Given the description of an element on the screen output the (x, y) to click on. 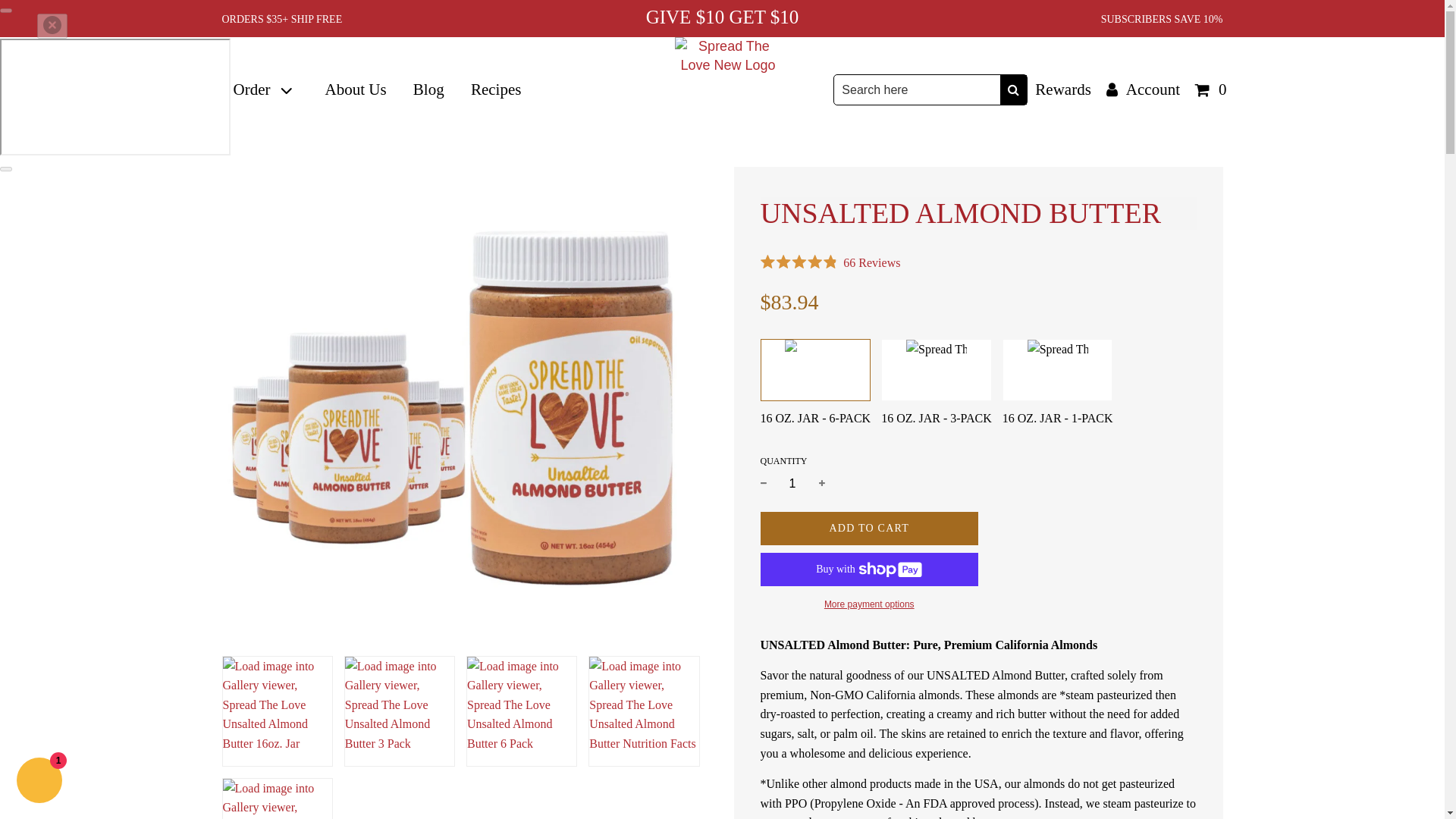
Skip to product information (228, 173)
1 (792, 483)
Rewards (1062, 89)
Skip to content (6, 6)
Blog (428, 90)
Recipes (496, 90)
About Us (355, 90)
Shopify online store chat (38, 781)
Log in (1143, 89)
Cart - 0 (1211, 89)
Order (264, 90)
Account (1143, 89)
